Given the description of an element on the screen output the (x, y) to click on. 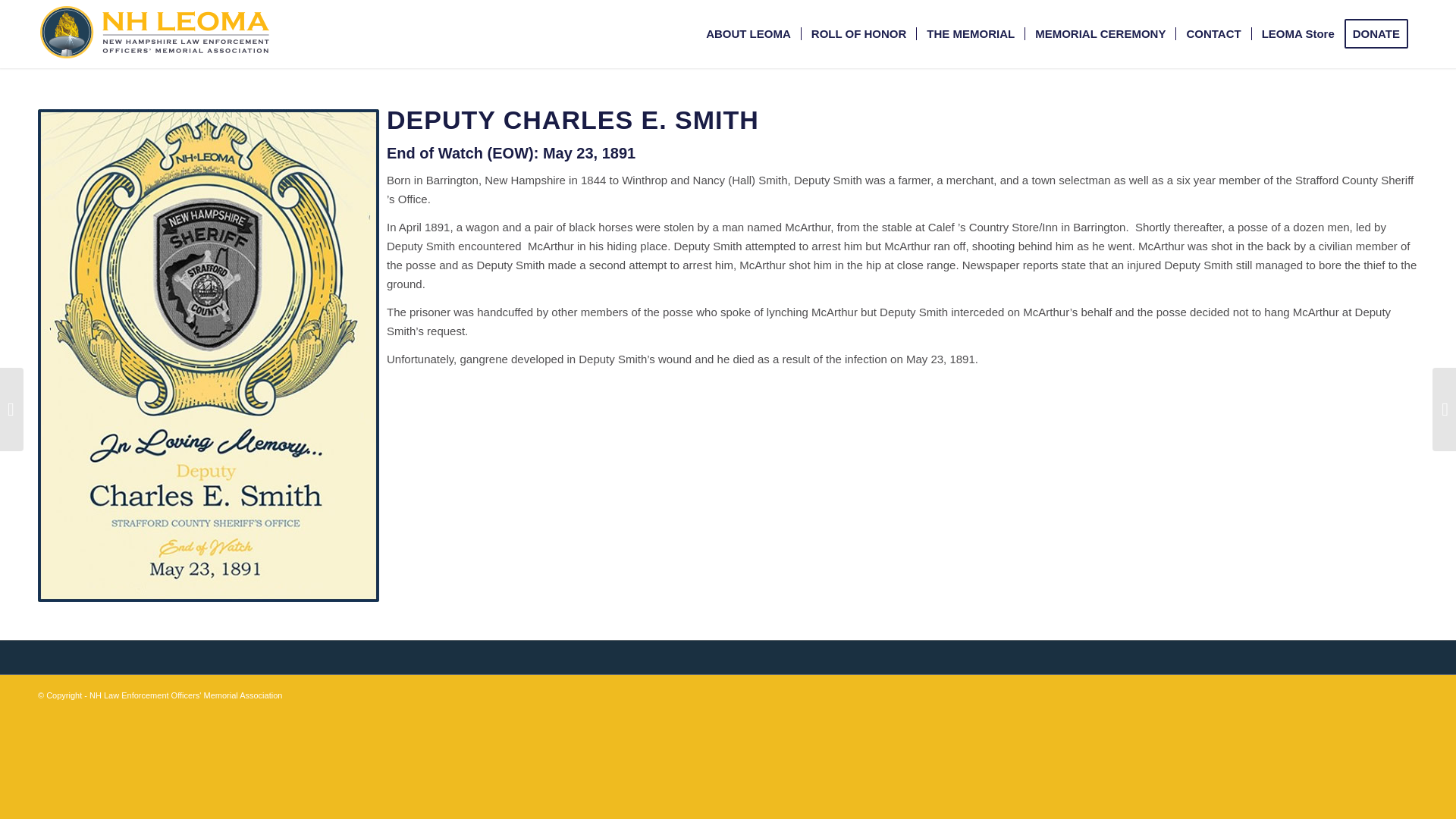
ROLL OF HONOR (858, 33)
DONATE (1380, 33)
MEMORIAL CEREMONY (1099, 33)
CONTACT (1212, 33)
THE MEMORIAL (970, 33)
LEOMA Store (1296, 33)
ABOUT LEOMA (747, 33)
